Given the description of an element on the screen output the (x, y) to click on. 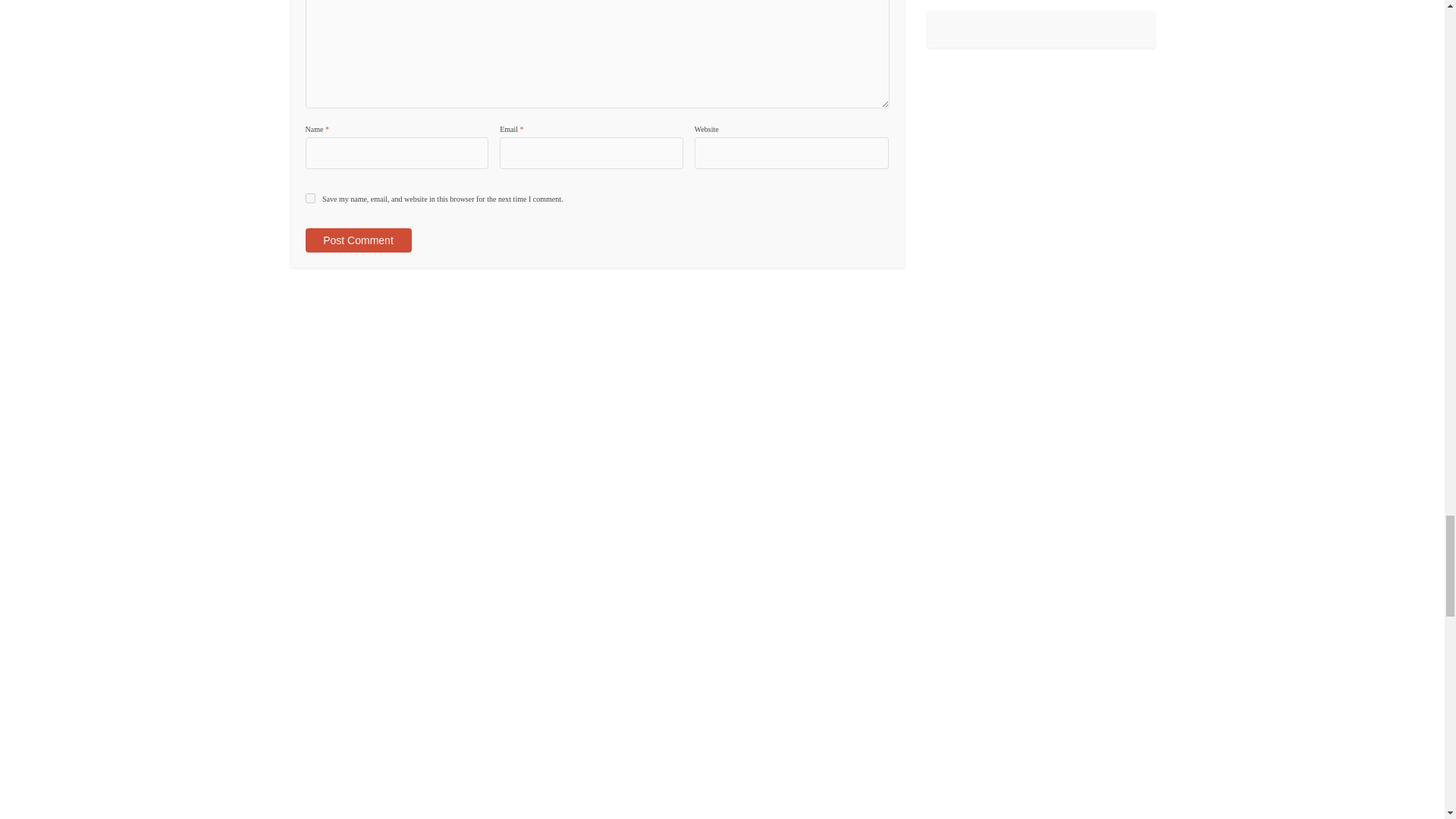
Post Comment (357, 240)
yes (309, 198)
Post Comment (357, 240)
